Given the description of an element on the screen output the (x, y) to click on. 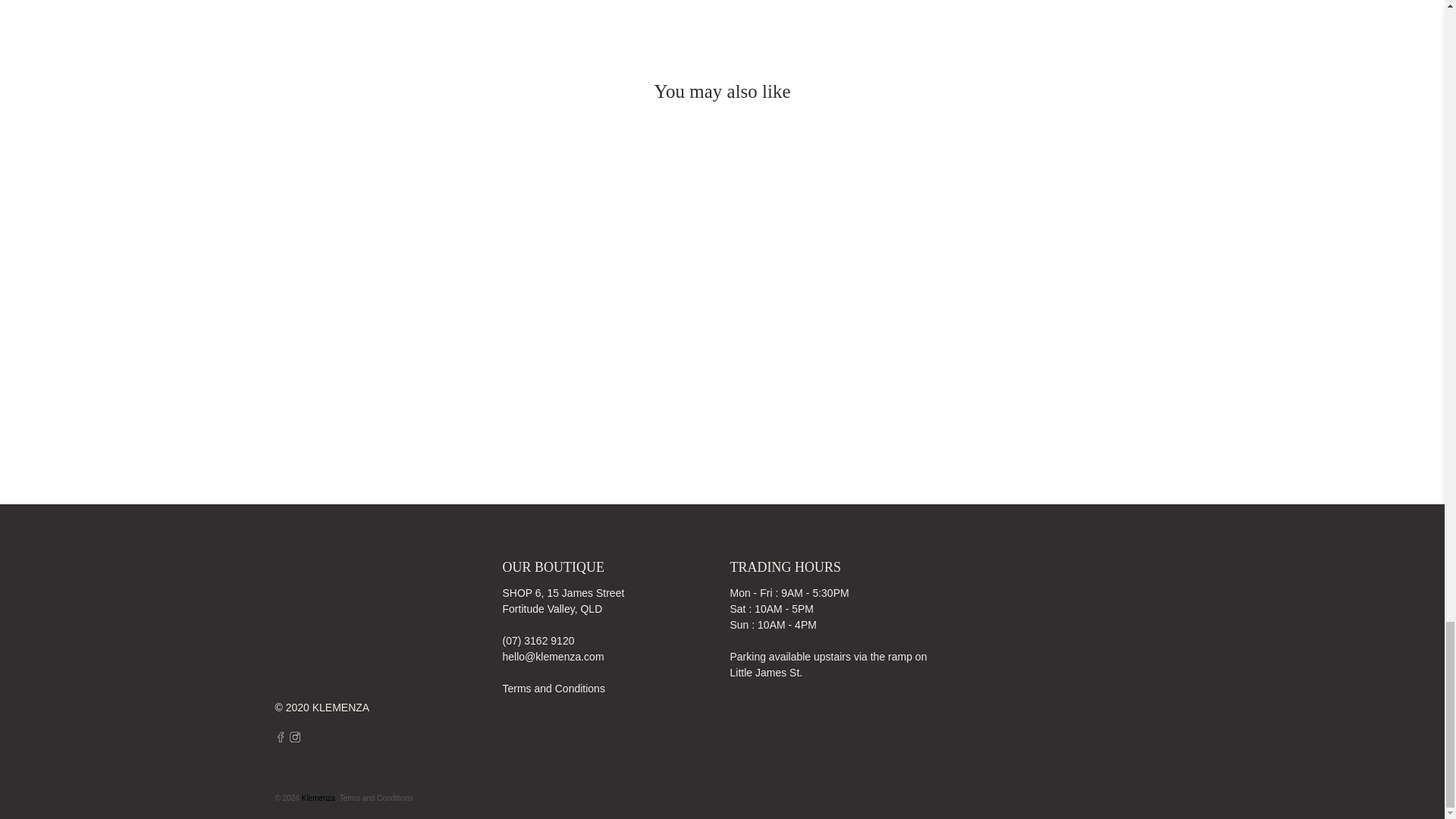
Klemenza (338, 628)
